Given the description of an element on the screen output the (x, y) to click on. 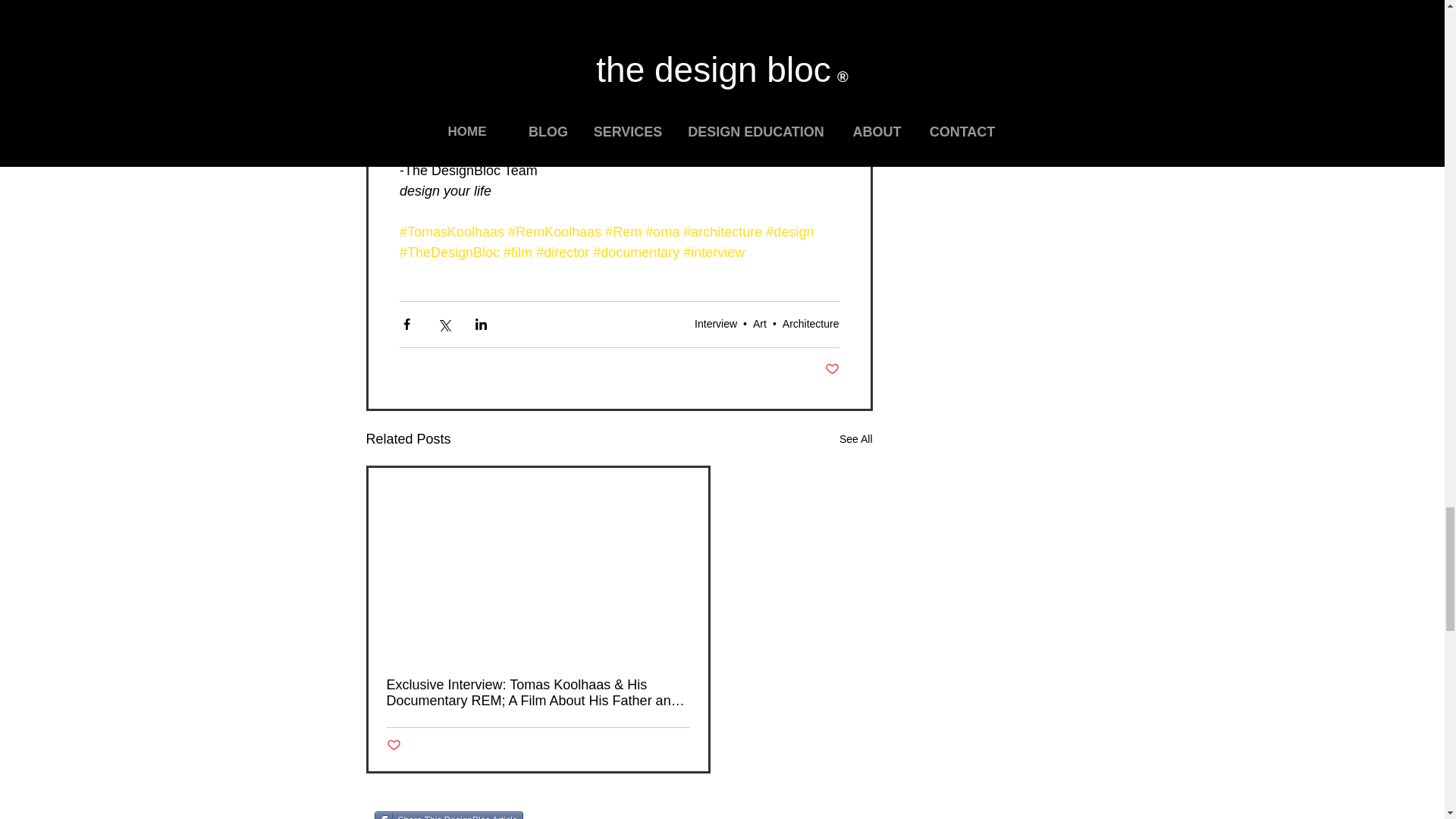
Interview (715, 323)
Architecture (811, 323)
Share This DesignBloc Article (449, 815)
Post not marked as liked (832, 369)
www.remdocumentary.org (477, 88)
Facebook Like (634, 815)
See All (856, 439)
Art (759, 323)
